Given the description of an element on the screen output the (x, y) to click on. 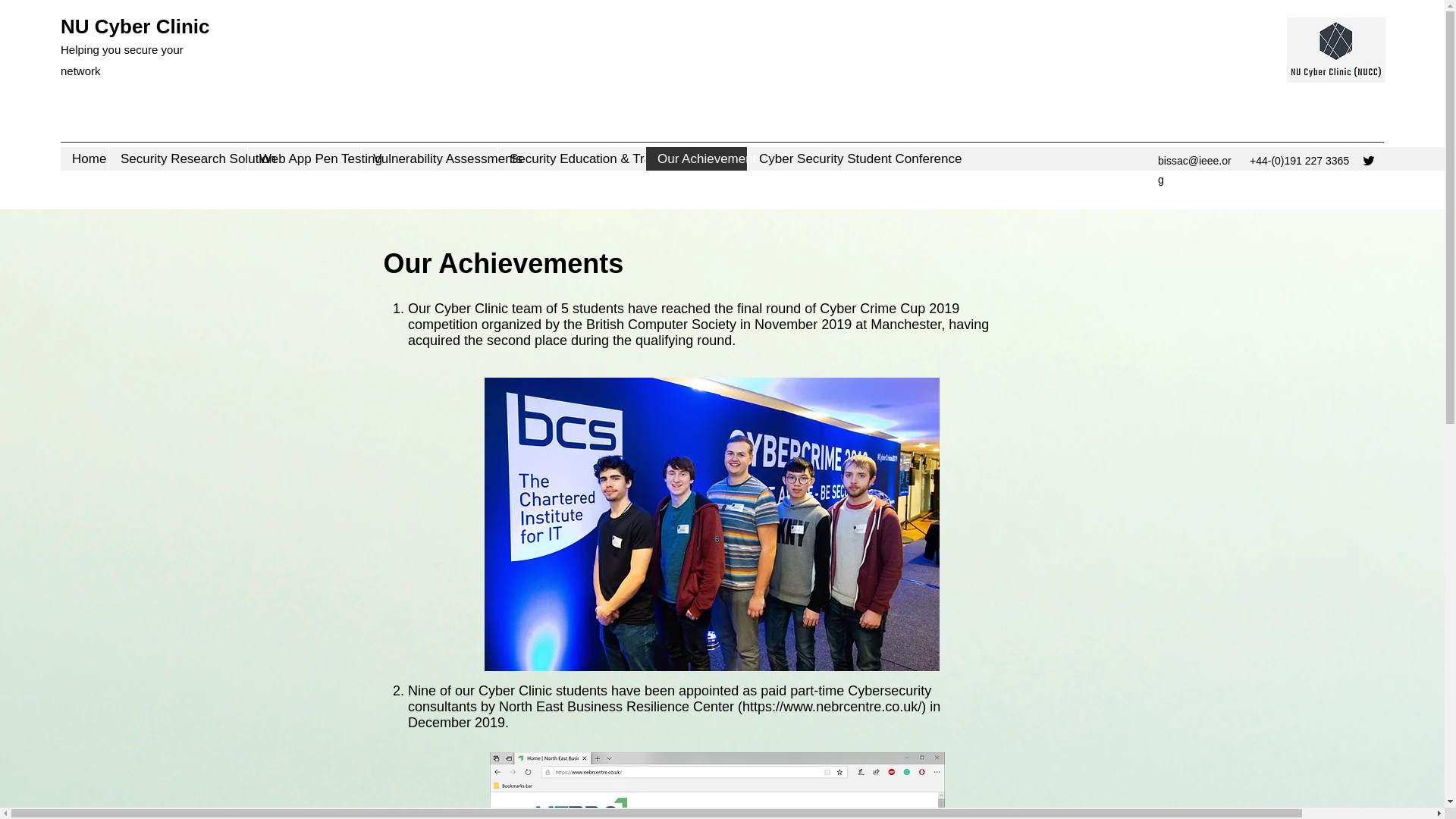
Vulnerability Assessments (429, 158)
Cyber Security Student Conference (833, 158)
Security Research Solution (177, 158)
NU Cyber Clinic (135, 26)
Home (84, 158)
Our Achievements (695, 158)
Web App Pen Testing (304, 158)
